Given the description of an element on the screen output the (x, y) to click on. 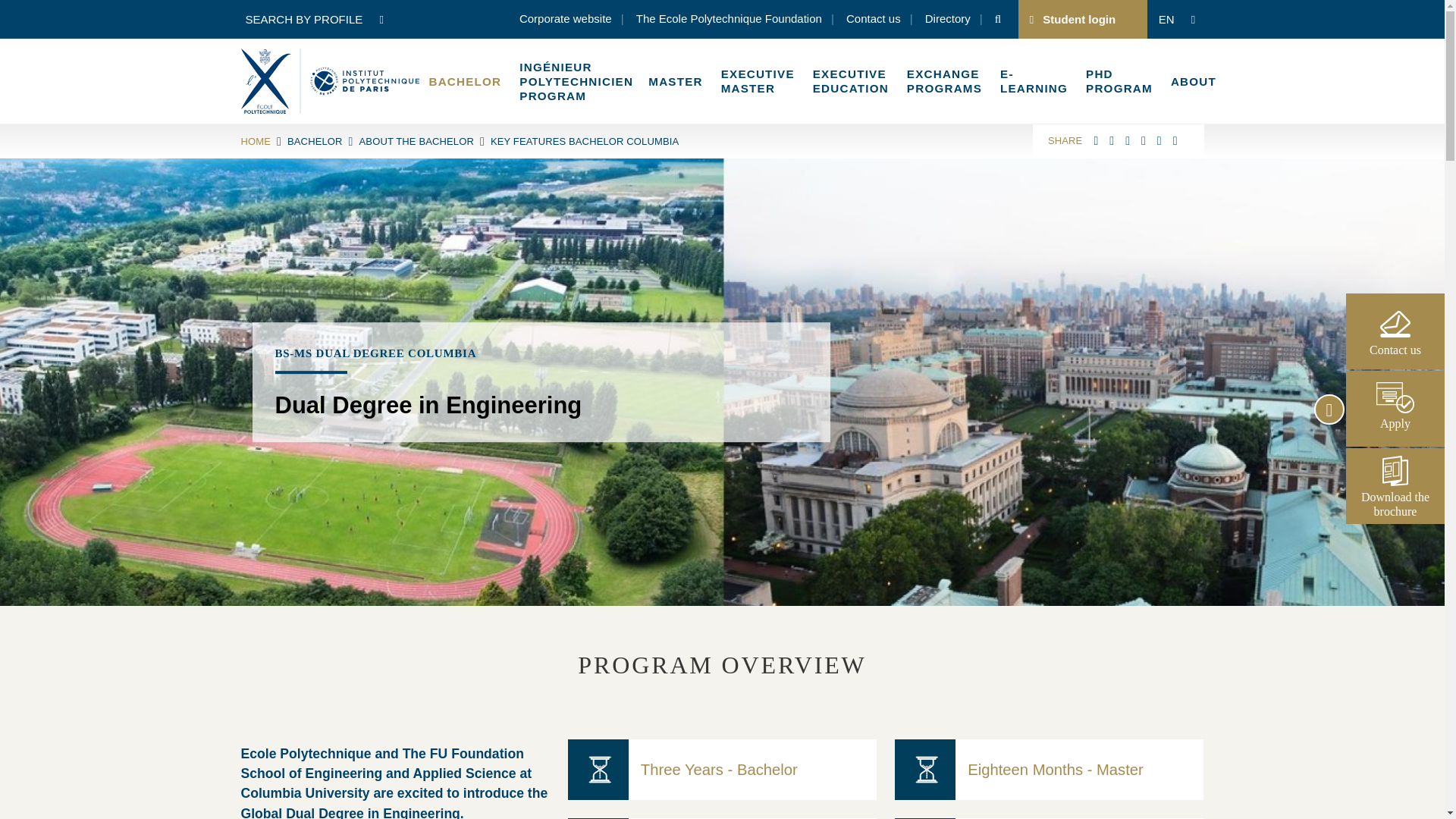
Contact us (873, 19)
Home (330, 80)
The Ecole Polytechnique Foundation (729, 19)
Student login (1078, 19)
Corporate website (565, 19)
Directory (947, 19)
